Given the description of an element on the screen output the (x, y) to click on. 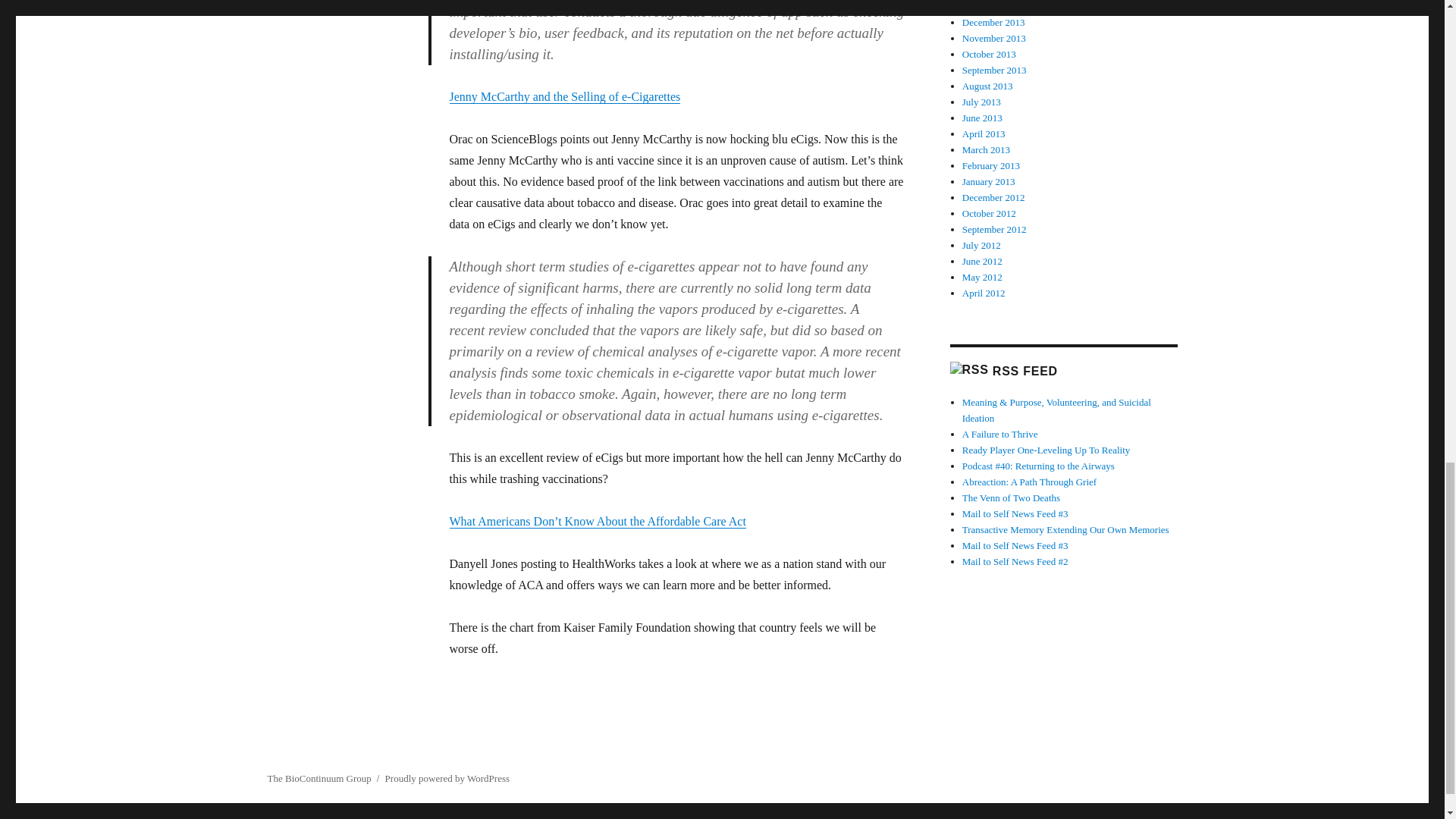
Jenny McCarthy and the Selling of e-Cigarettes (563, 96)
